Given the description of an element on the screen output the (x, y) to click on. 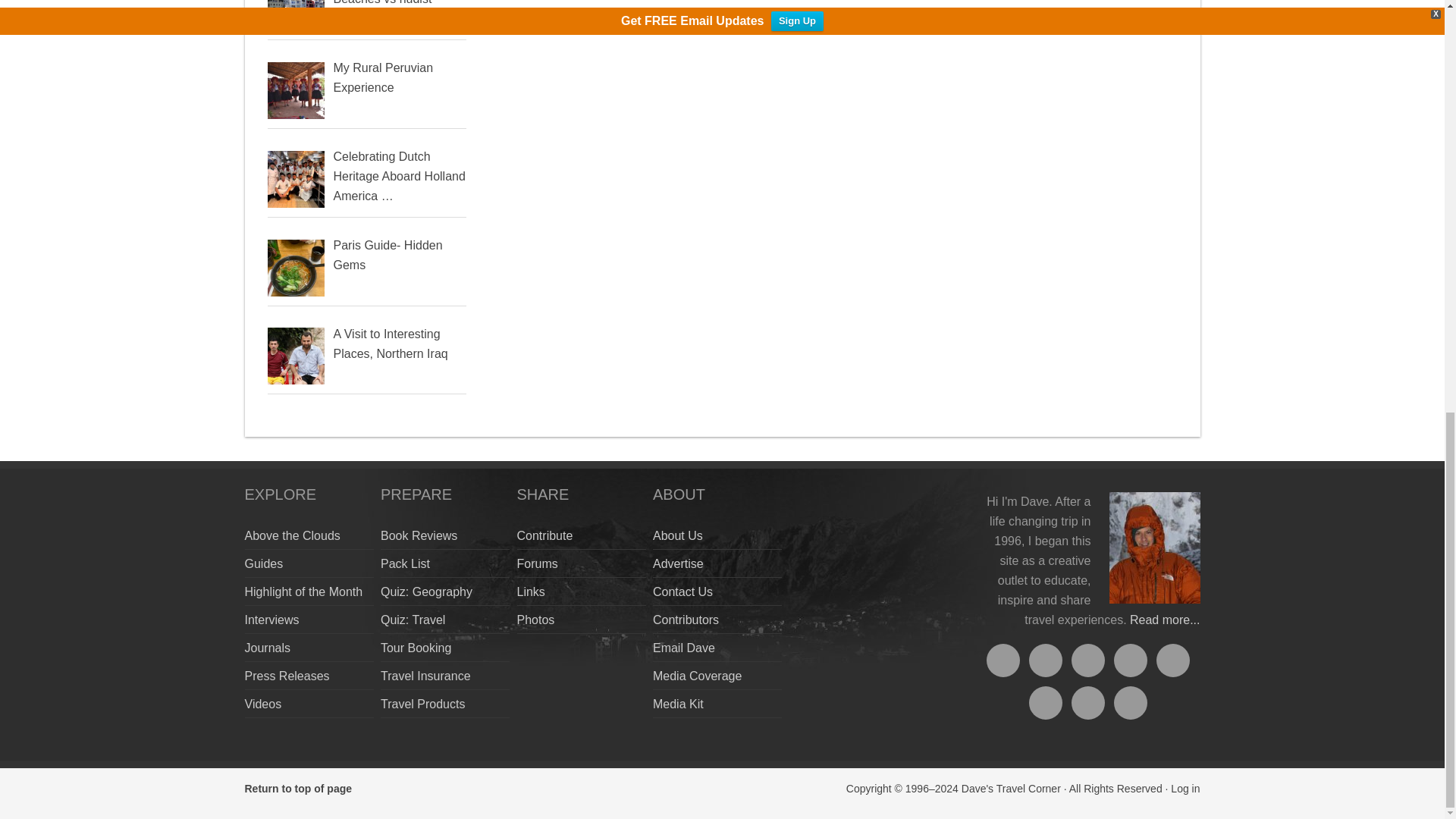
Paris Guide- Hidden Gems (387, 255)
My Rural Peruvian Experience (383, 77)
A Visit to Interesting Places, Northern Iraq (390, 343)
